Given the description of an element on the screen output the (x, y) to click on. 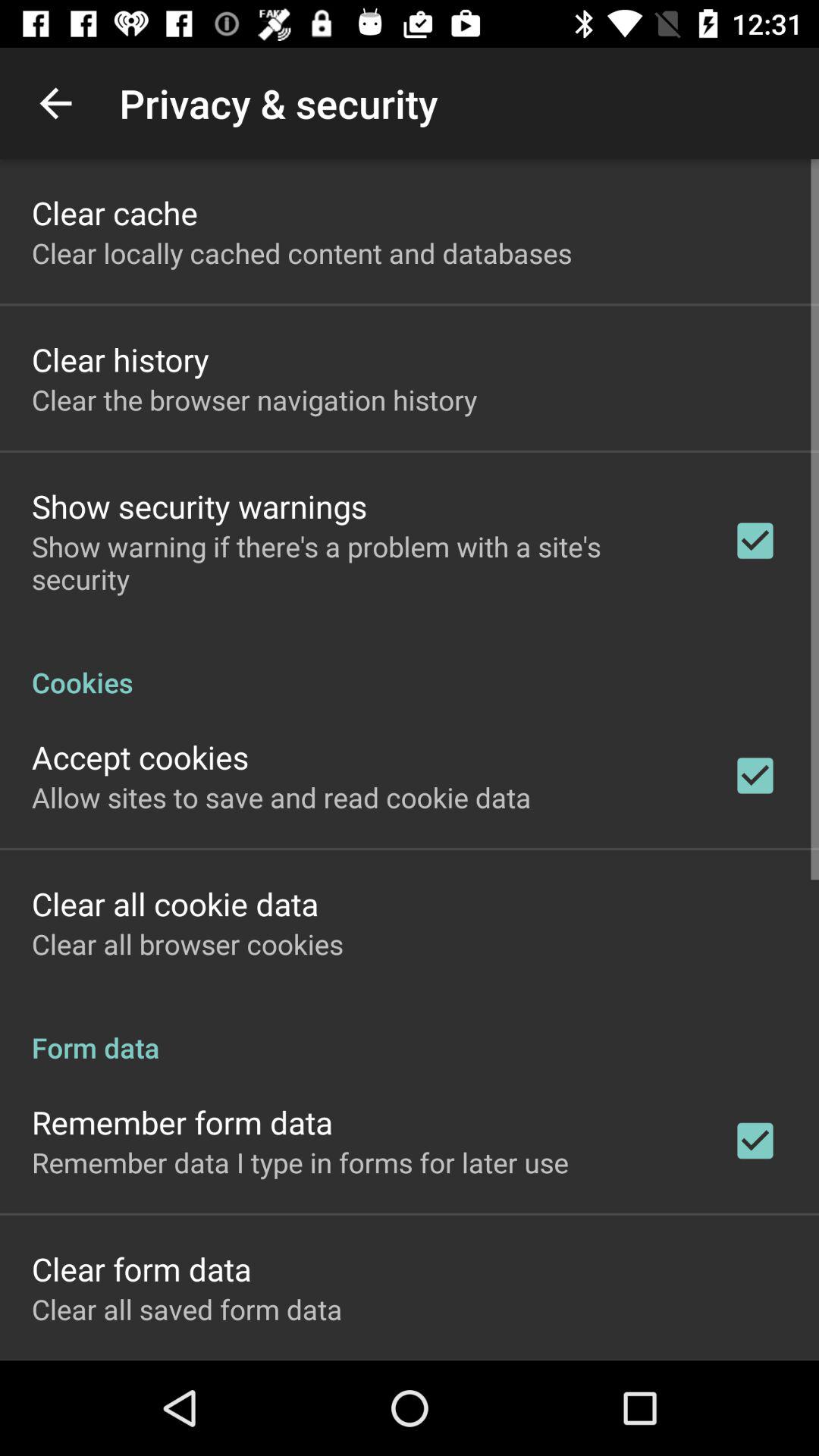
flip until accept cookies item (140, 756)
